Given the description of an element on the screen output the (x, y) to click on. 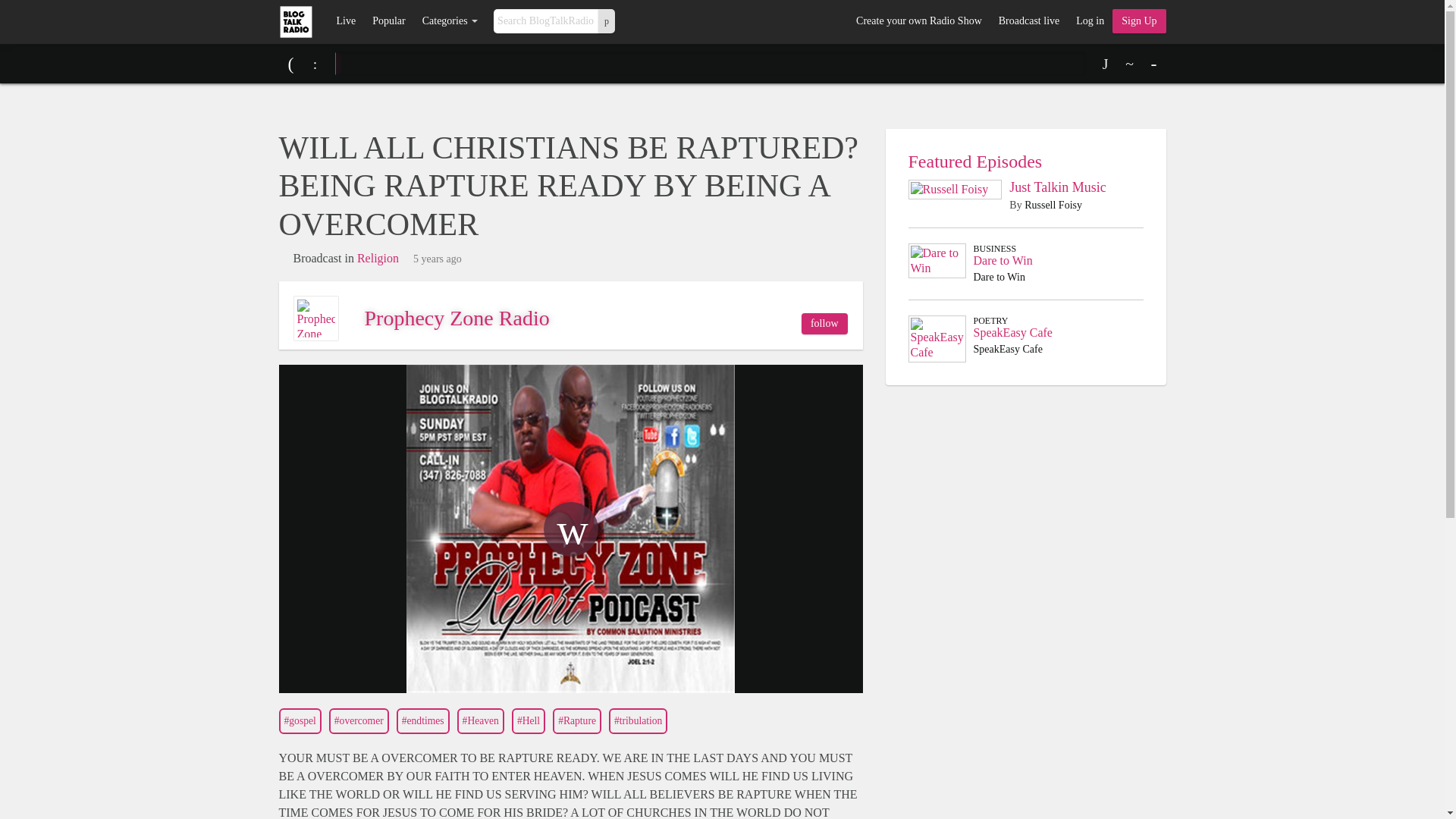
Live (345, 20)
Broadcast live (1028, 20)
Create My Talk Show (1139, 21)
Log in (1089, 20)
Embed this episode (1129, 63)
Wed, August 8, 2018 11:00 am (437, 259)
Download this episode (1105, 63)
Popular (388, 20)
Create your own Radio Show (918, 20)
Follow Prophecy Zone Radio (824, 323)
Sign Up (1139, 21)
Categories (449, 20)
